Given the description of an element on the screen output the (x, y) to click on. 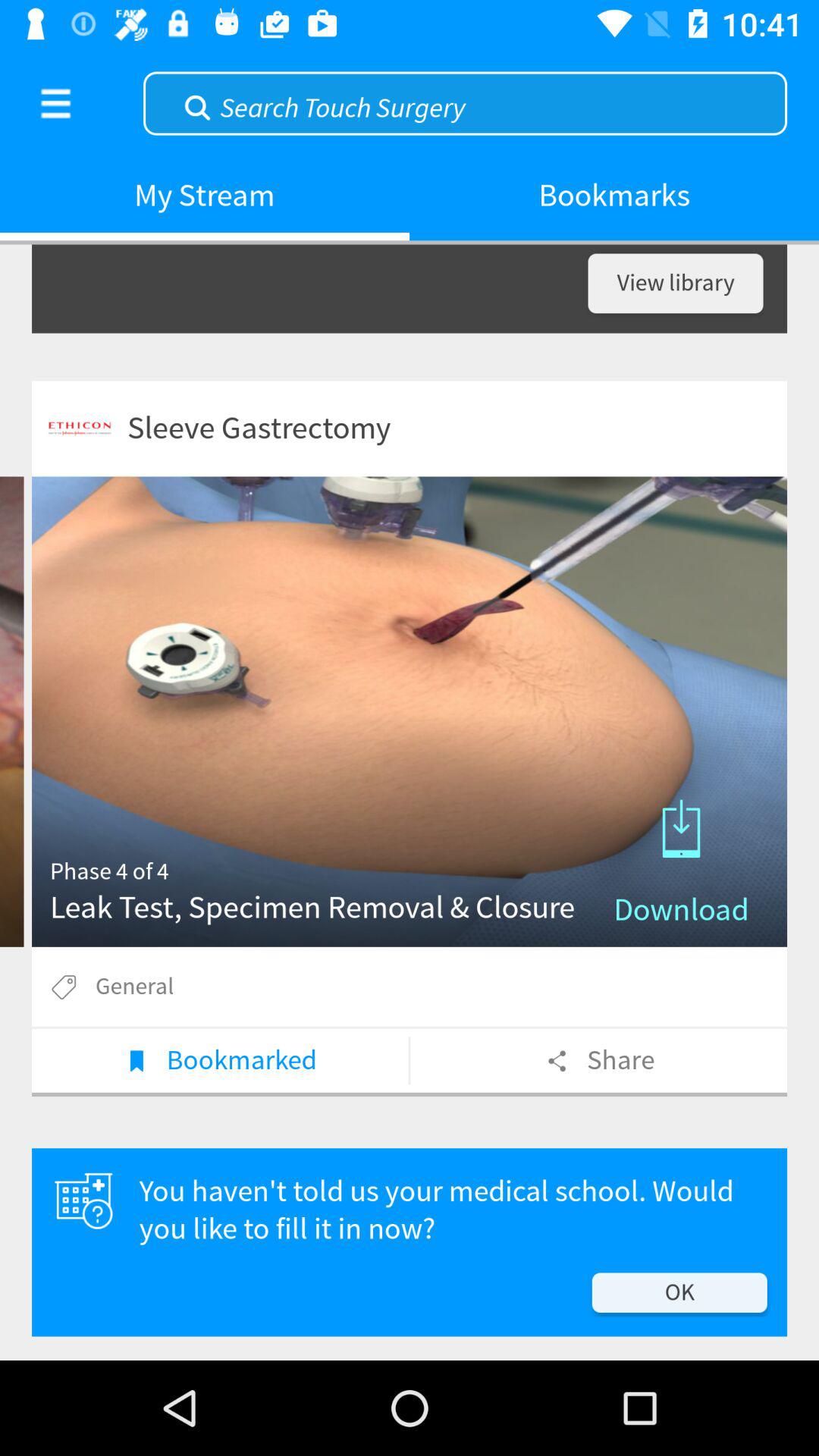
swipe until the ok icon (679, 1292)
